Given the description of an element on the screen output the (x, y) to click on. 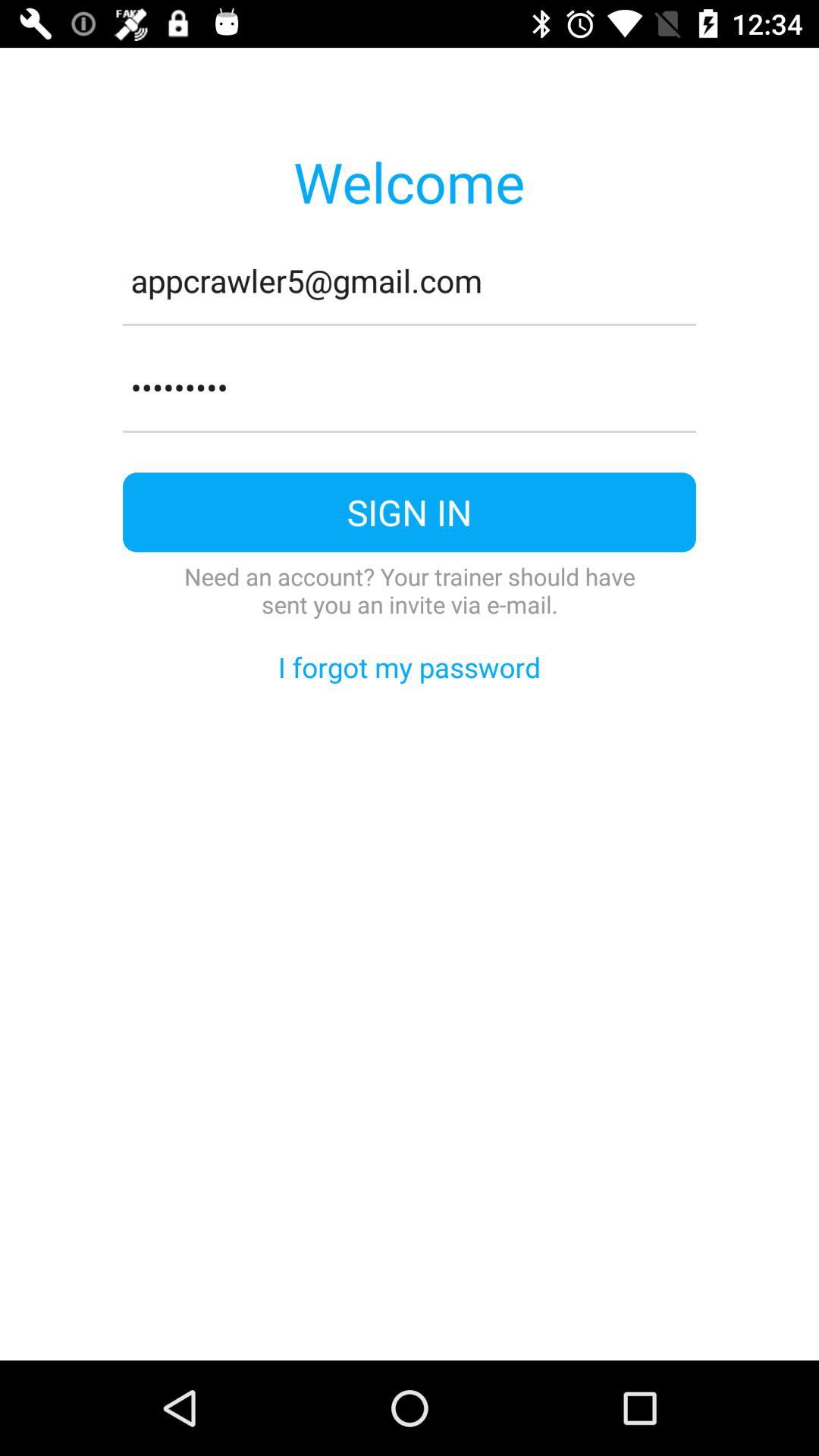
click the icon above the sign in item (409, 431)
